Given the description of an element on the screen output the (x, y) to click on. 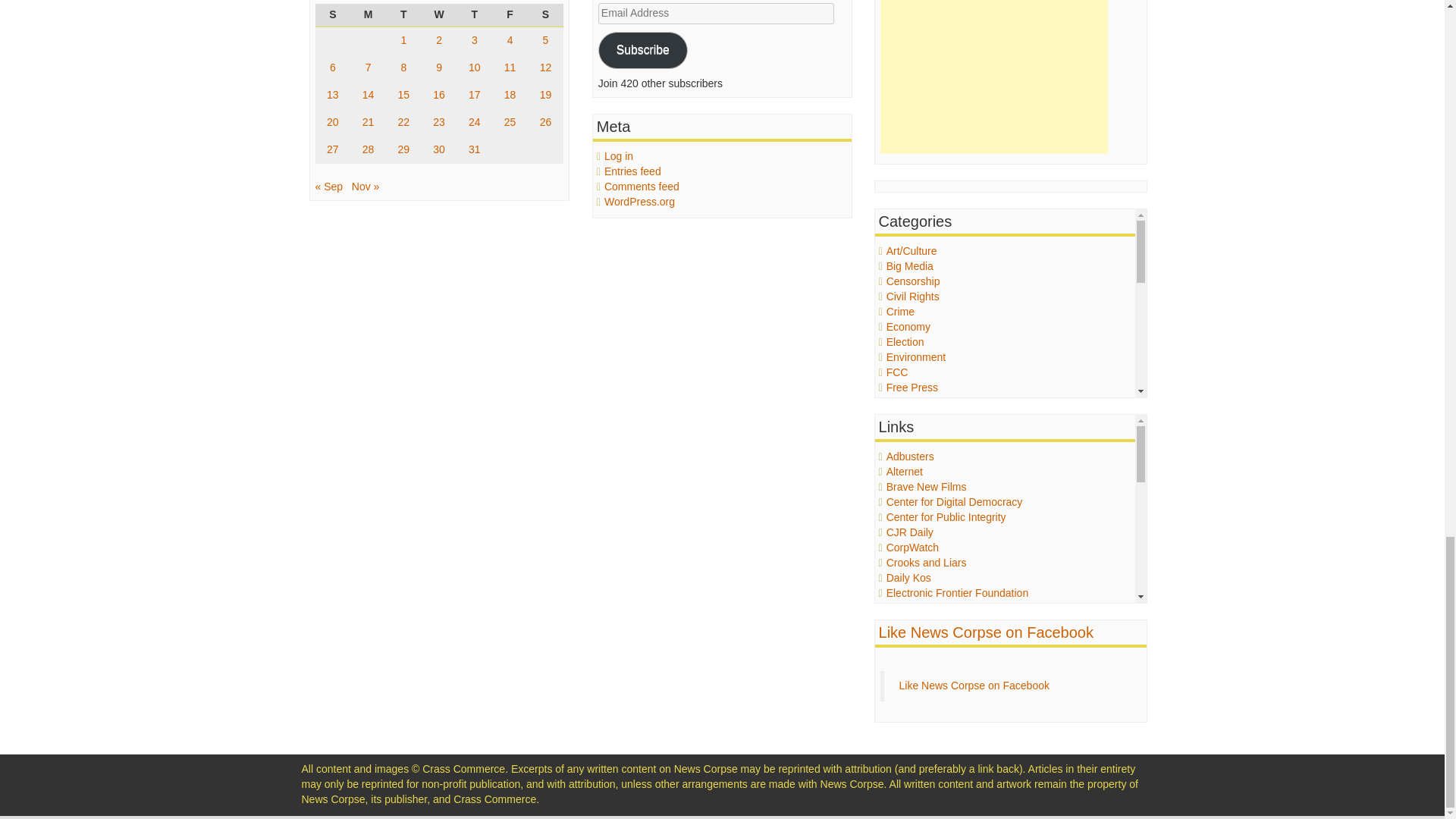
Sunday (332, 15)
Wednesday (439, 15)
Thursday (474, 15)
Saturday (545, 15)
Monday (367, 15)
Tuesday (403, 15)
Friday (509, 15)
